Given the description of an element on the screen output the (x, y) to click on. 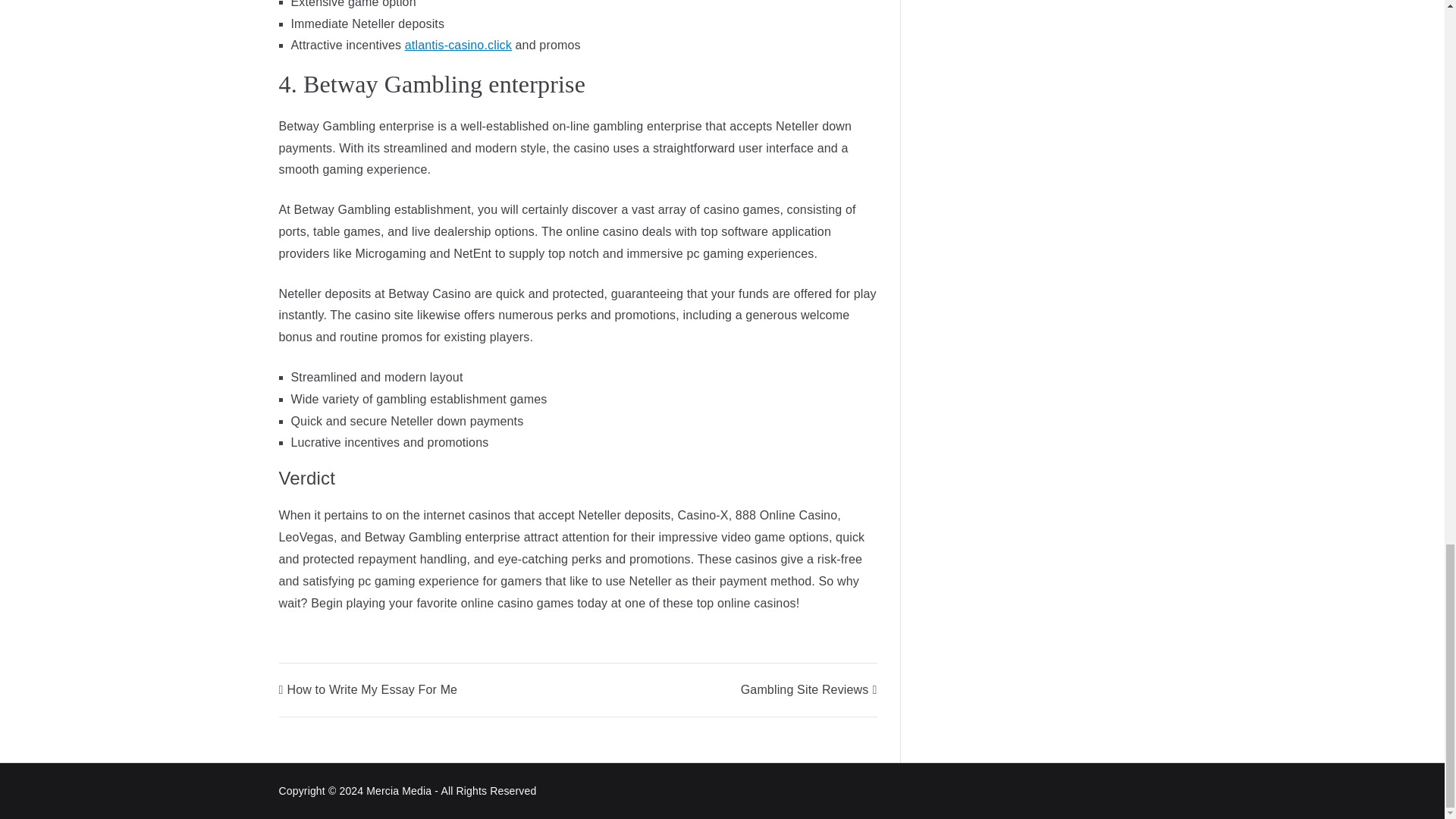
Mercia Media (398, 790)
How to Write My Essay For Me (368, 689)
Mercia Media (398, 790)
atlantis-casino.click (458, 44)
Gambling Site Reviews (809, 689)
